Given the description of an element on the screen output the (x, y) to click on. 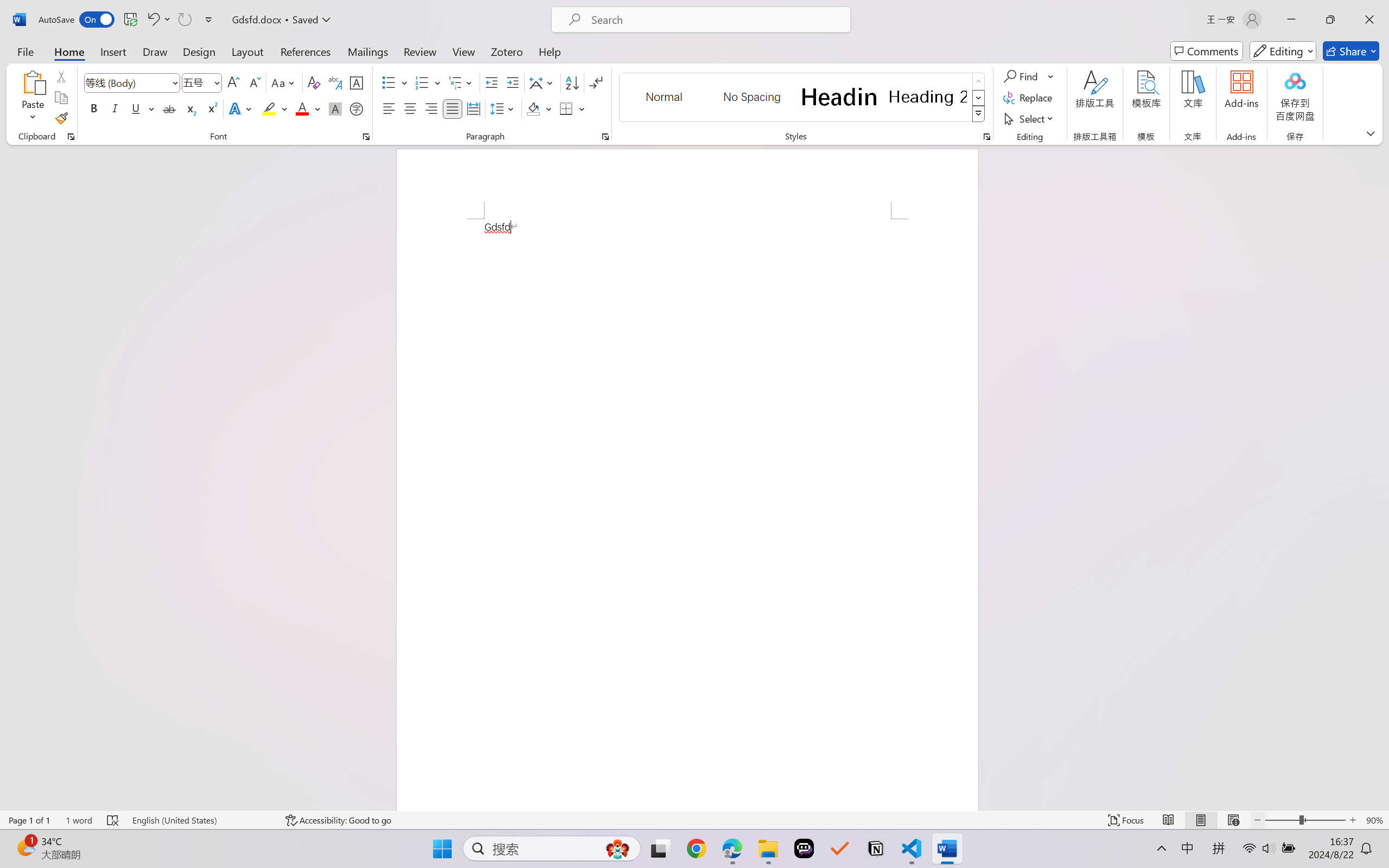
Spelling and Grammar Check Errors (113, 819)
Row up (978, 81)
Asian Layout (542, 82)
Multilevel List (461, 82)
